Given the description of an element on the screen output the (x, y) to click on. 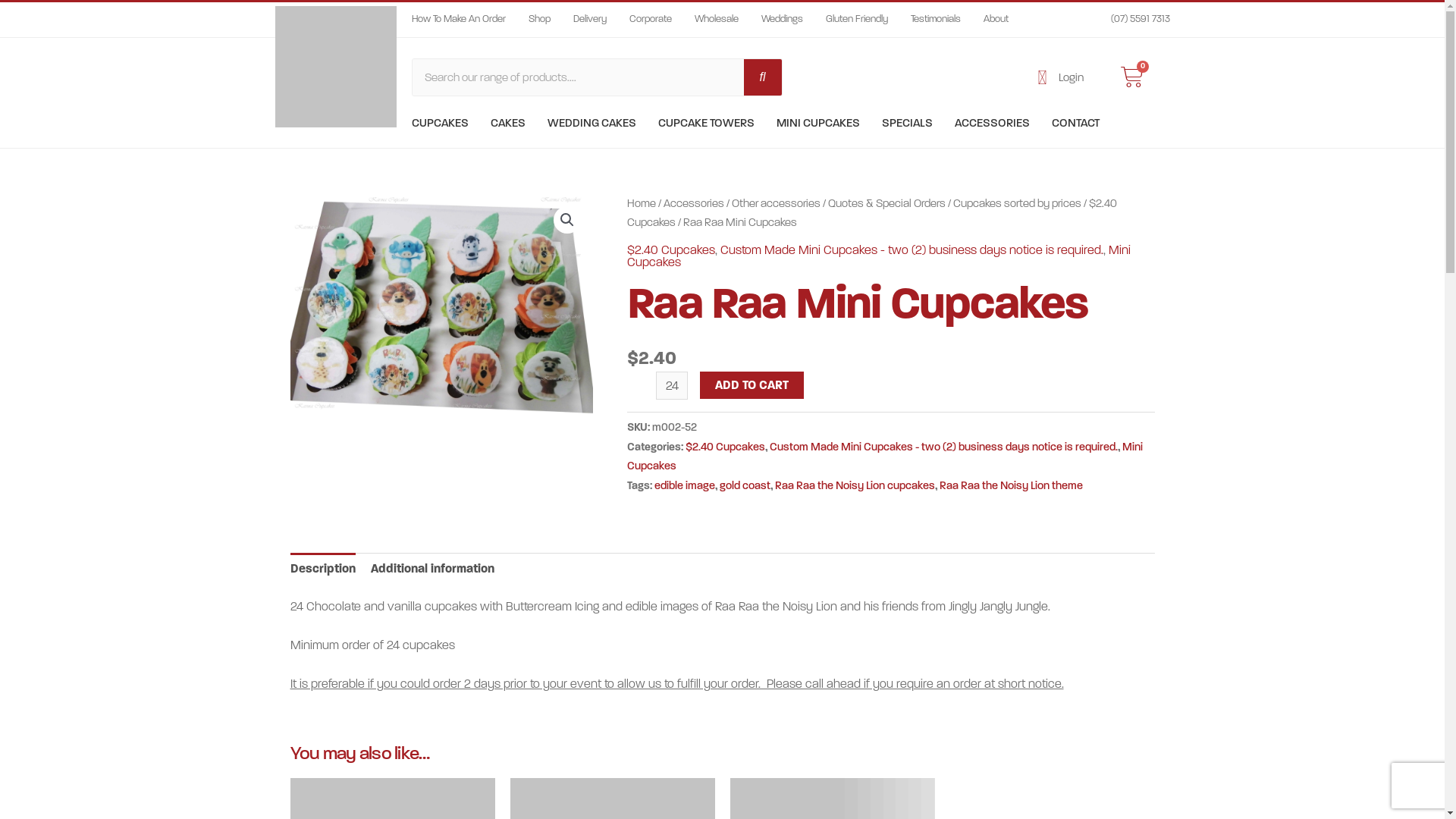
$2.40 Cupcakes Element type: text (872, 212)
SPECIALS Element type: text (906, 122)
CUPCAKE TOWERS Element type: text (706, 122)
Raa Raa Mini Cupcakes  Element type: hover (440, 307)
MINI CUPCAKES Element type: text (817, 122)
$2.40 Cupcakes Element type: text (671, 249)
Raa Raa the Noisy Lion cupcakes Element type: text (855, 485)
Delivery Element type: text (589, 19)
Mini Cupcakes Element type: text (884, 456)
Additional information Element type: text (431, 568)
Quotes & Special Orders Element type: text (886, 203)
Wholesale Element type: text (716, 19)
$2.40 Cupcakes Element type: text (725, 446)
Shop Element type: text (538, 19)
Weddings Element type: text (782, 19)
Login Element type: text (1051, 77)
SEARCH Element type: text (762, 77)
CUPCAKES Element type: text (439, 122)
ADD TO CART Element type: text (751, 384)
Corporate Element type: text (650, 19)
CAKES Element type: text (506, 122)
edible image Element type: text (684, 485)
Cupcakes sorted by prices Element type: text (1017, 203)
Testimonials Element type: text (935, 19)
Gluten Friendly Element type: text (856, 19)
ACCESSORIES Element type: text (991, 122)
Raa Raa the Noisy Lion theme Element type: text (1010, 485)
Other accessories Element type: text (775, 203)
Home Element type: text (641, 203)
Mini Cupcakes Element type: text (878, 255)
gold coast Element type: text (744, 485)
CONTACT Element type: text (1074, 122)
(07) 5591 7313 Element type: text (1131, 19)
Description Element type: text (321, 568)
0
CART Element type: text (1131, 76)
WEDDING CAKES Element type: text (591, 122)
About Element type: text (994, 19)
Accessories Element type: text (693, 203)
How To Make An Order Element type: text (458, 19)
